Given the description of an element on the screen output the (x, y) to click on. 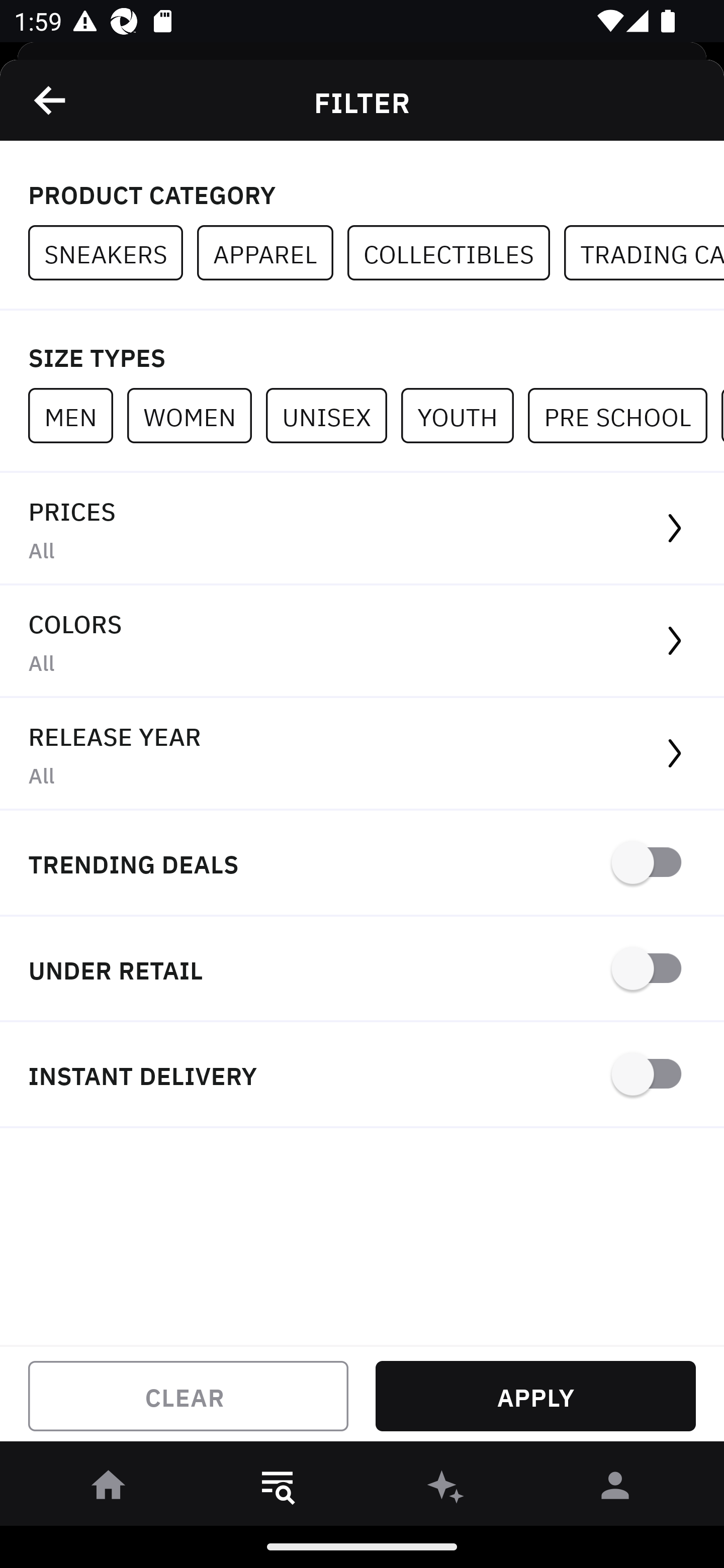
 (50, 100)
SNEAKERS (112, 252)
APPAREL (271, 252)
COLLECTIBLES (455, 252)
TRADING CARDS (643, 252)
MEN (77, 415)
WOMEN (196, 415)
UNISEX (333, 415)
YOUTH (464, 415)
PRE SCHOOL (624, 415)
PRICES All (362, 528)
COLORS All (362, 640)
RELEASE YEAR All (362, 753)
TRENDING DEALS (362, 863)
UNDER RETAIL (362, 969)
INSTANT DELIVERY (362, 1075)
CLEAR  (188, 1396)
APPLY (535, 1396)
󰋜 (108, 1488)
󱎸 (277, 1488)
󰫢 (446, 1488)
󰀄 (615, 1488)
